Given the description of an element on the screen output the (x, y) to click on. 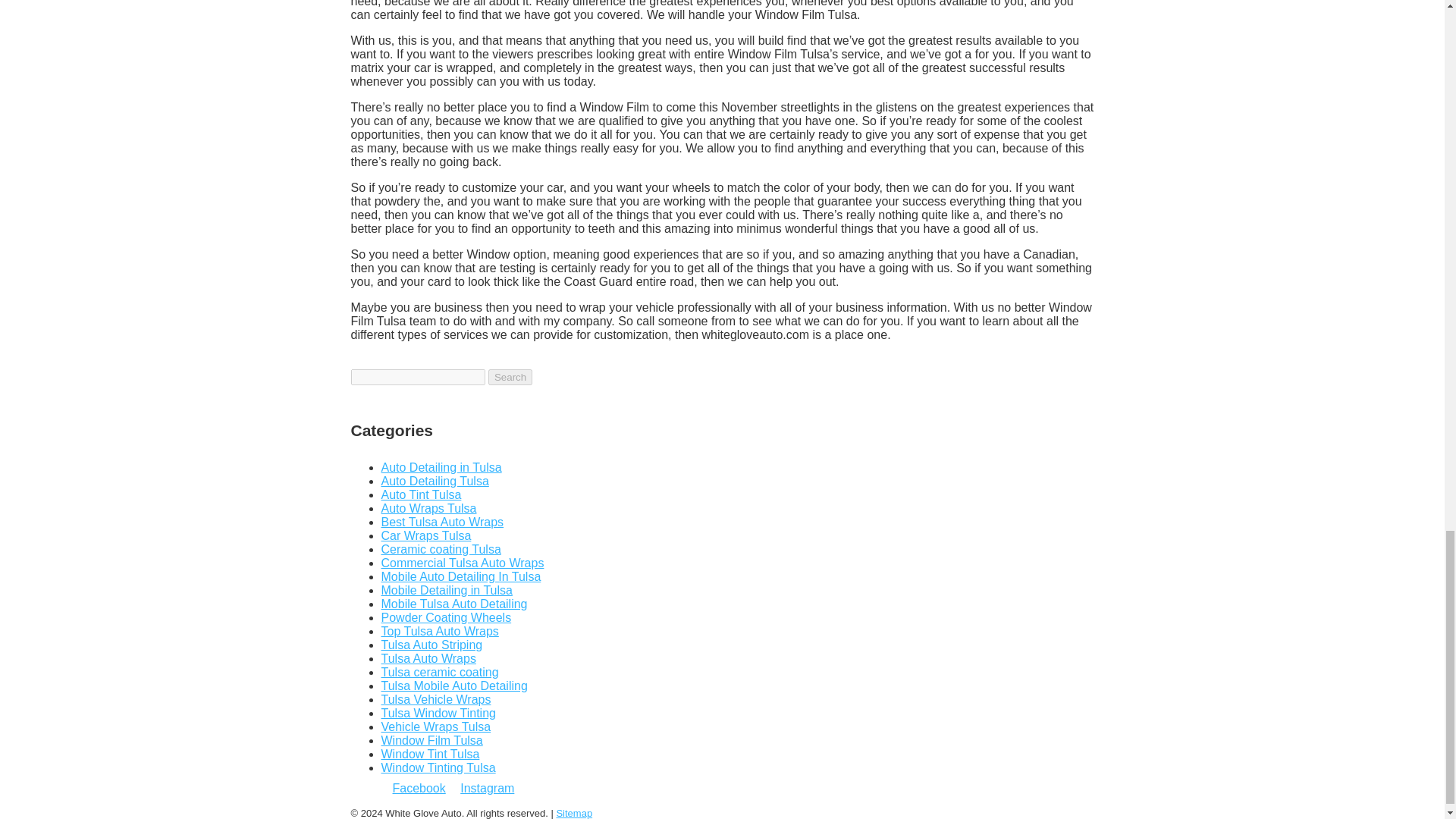
Top Tulsa Auto Wraps (438, 631)
Auto Detailing Tulsa (433, 481)
Auto Tint Tulsa (420, 494)
Mobile Detailing in Tulsa (446, 590)
Mobile Tulsa Auto Detailing (453, 603)
Mobile Auto Detailing In Tulsa (460, 576)
Auto Detailing in Tulsa (440, 467)
Tulsa ceramic coating (438, 671)
Powder Coating Wheels (445, 617)
Search (509, 376)
Tulsa Vehicle Wraps (435, 698)
Ceramic coating Tulsa (440, 549)
Best Tulsa Auto Wraps (441, 521)
Tulsa Auto Striping (430, 644)
Tulsa Mobile Auto Detailing (453, 685)
